Given the description of an element on the screen output the (x, y) to click on. 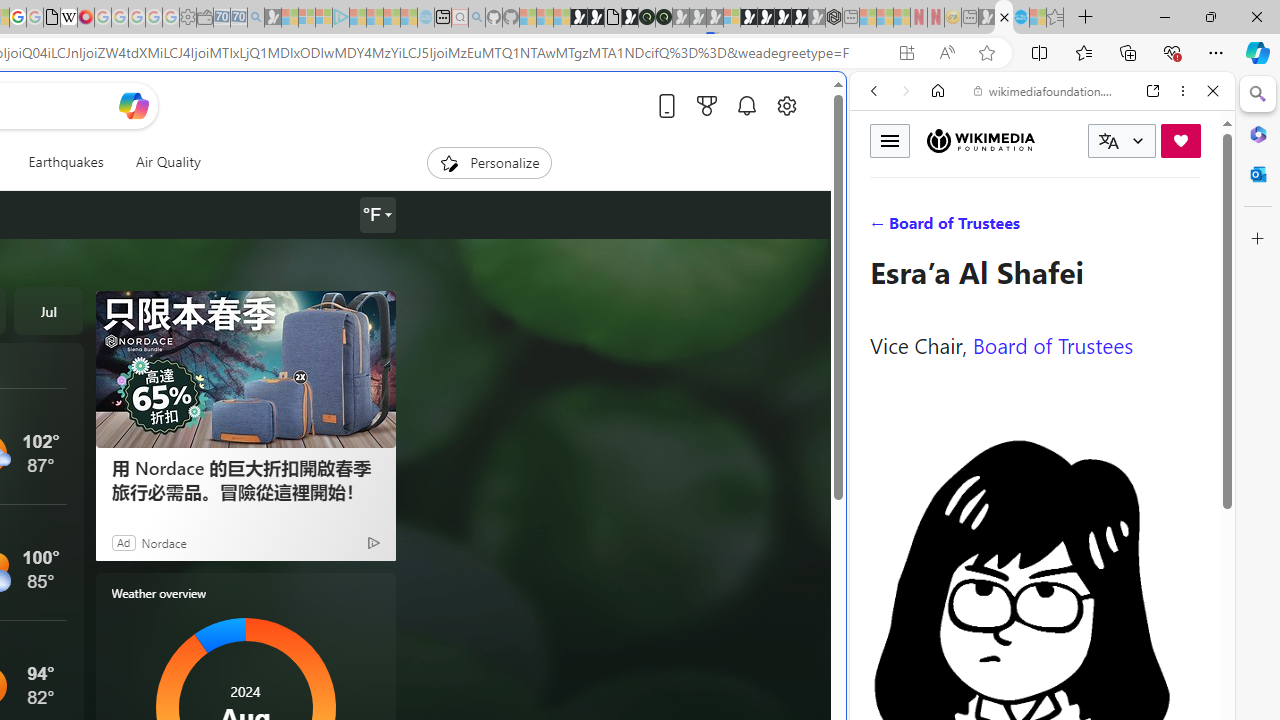
Bing Real Estate - Home sales and rental listings - Sleeping (255, 17)
Search Filter, VIDEOS (1006, 228)
Frequently visited (418, 265)
Tabs you've opened (276, 265)
Wallet - Sleeping (204, 17)
Air Quality (159, 162)
Toggle menu (890, 140)
